Given the description of an element on the screen output the (x, y) to click on. 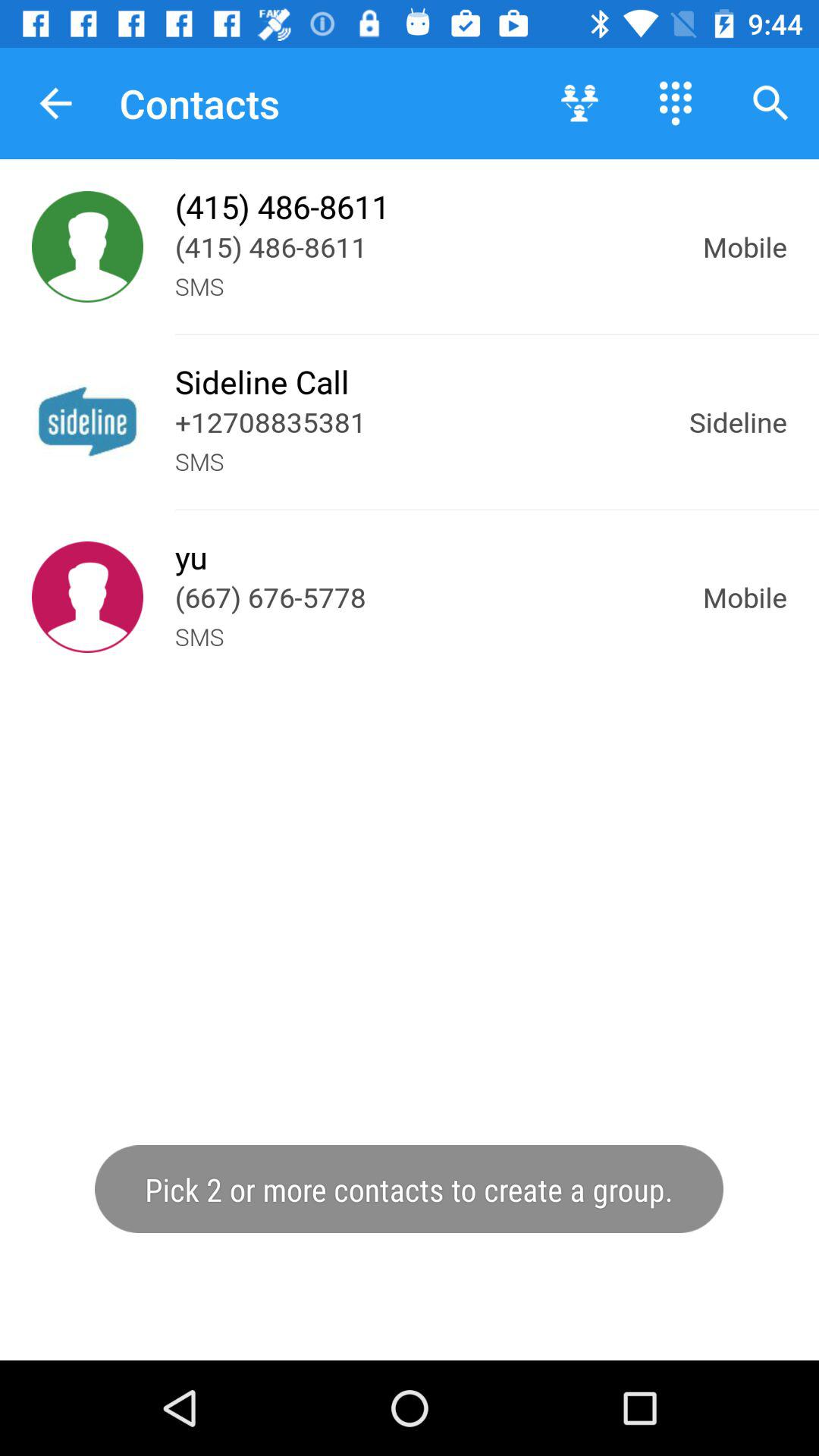
view contact (87, 596)
